Given the description of an element on the screen output the (x, y) to click on. 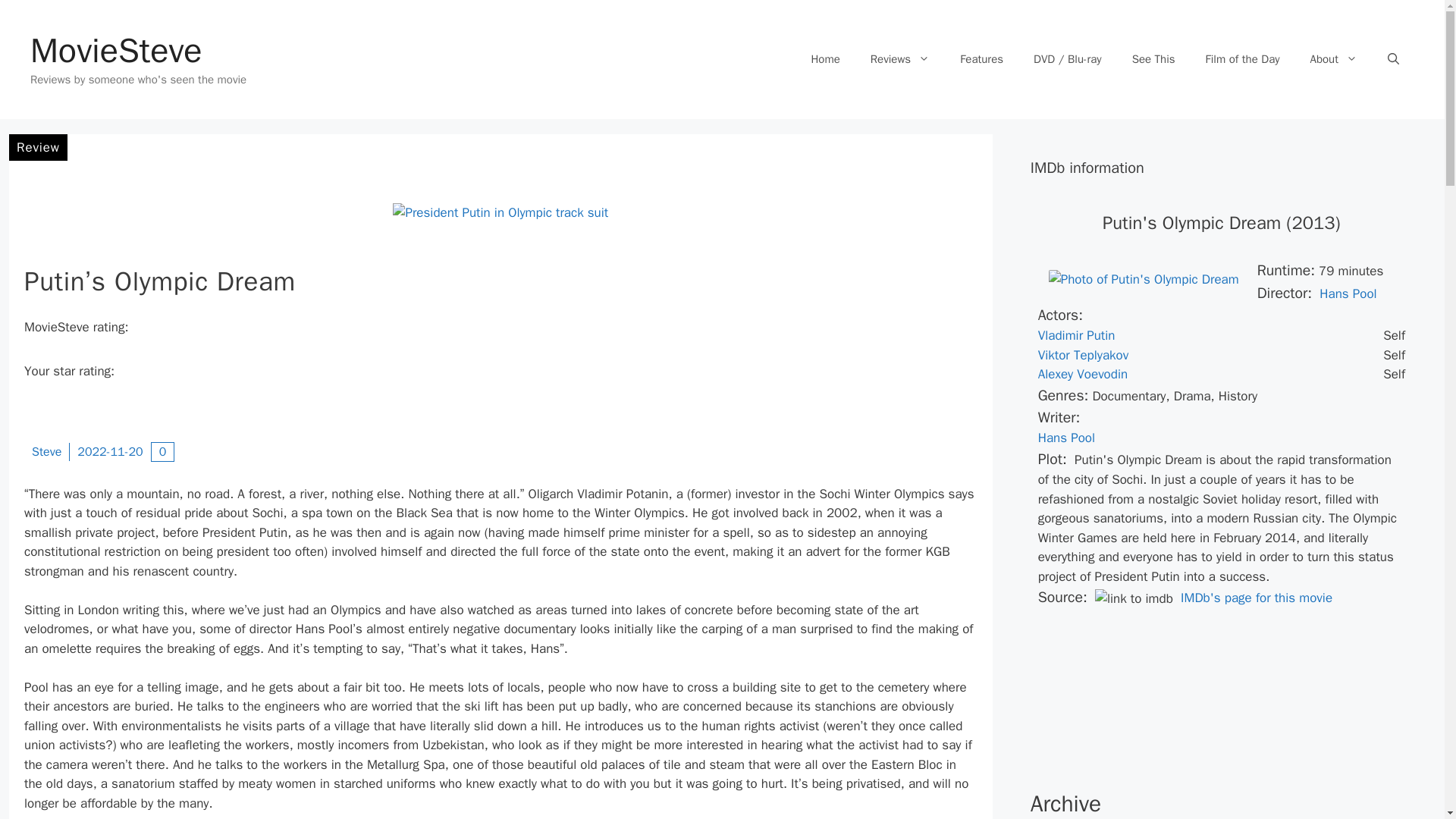
Putin's Olympic Dream (1143, 278)
Hans Pool (1066, 437)
open a new window with IMDb informations (1347, 293)
Viktor Teplyakov (1083, 355)
Vladimir Putin (1076, 335)
Steve (46, 451)
Alexey Voevodin (1083, 374)
Go to IMDb website for this movie (1252, 597)
MovieSteve (116, 50)
About (1334, 58)
Features (980, 58)
open a new window with IMDb informations (1083, 374)
open a new window with IMDb informations (1066, 437)
Review (37, 146)
See This (1153, 58)
